Given the description of an element on the screen output the (x, y) to click on. 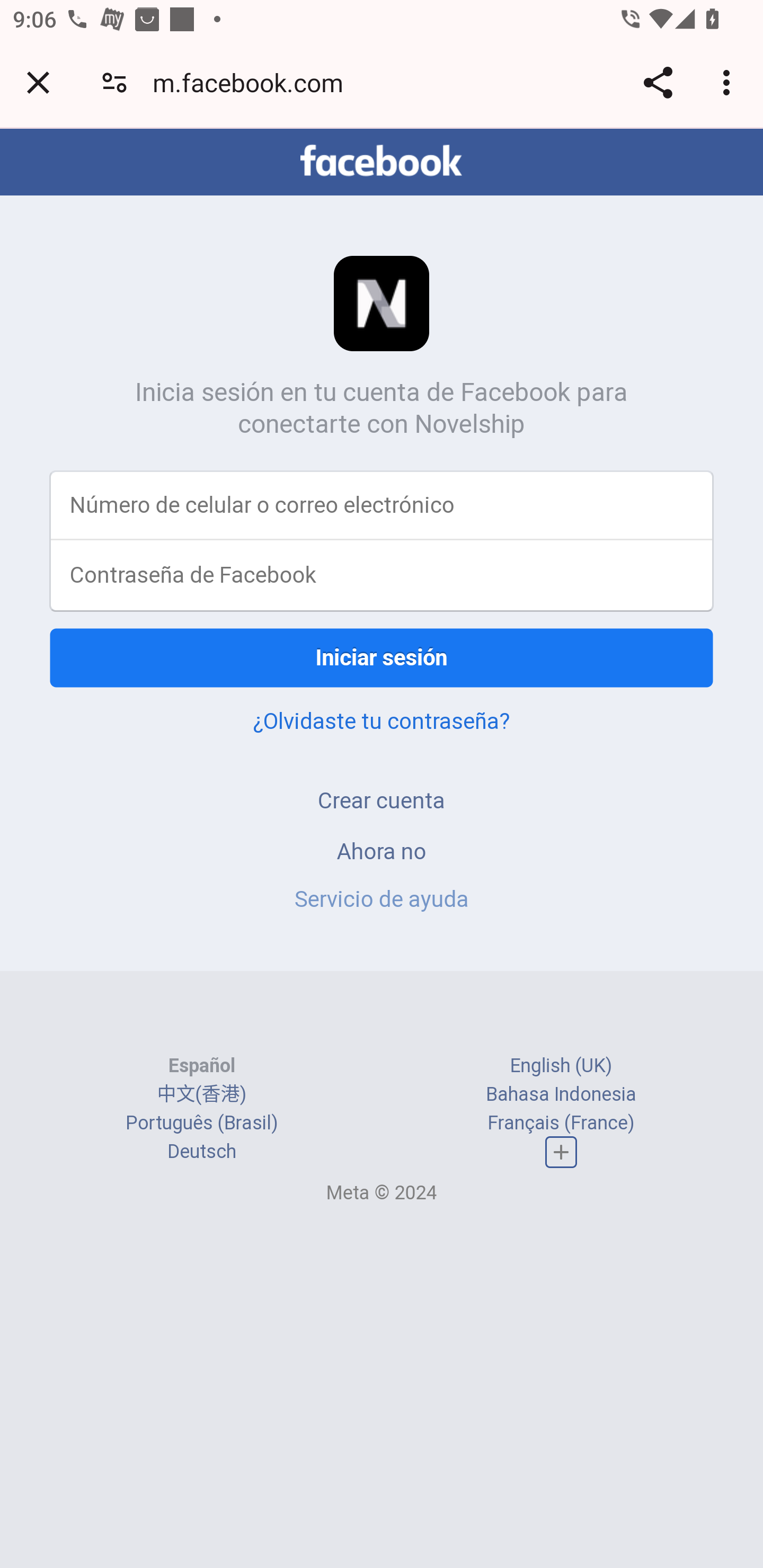
Close tab (38, 82)
Share (657, 82)
Customize and control Google Chrome (729, 82)
Connection is secure (114, 81)
m.facebook.com (254, 81)
facebook (381, 160)
Iniciar sesión (381, 657)
¿Olvidaste tu contraseña? (381, 720)
Crear cuenta (381, 800)
Ahora no (381, 850)
Servicio de ayuda (381, 898)
English (UK) (560, 1065)
中文(香港) (201, 1093)
Bahasa Indonesia (560, 1093)
Português (Brasil) (201, 1122)
Français (France) (560, 1122)
Lista completa de idiomas (560, 1152)
Deutsch (201, 1151)
